Given the description of an element on the screen output the (x, y) to click on. 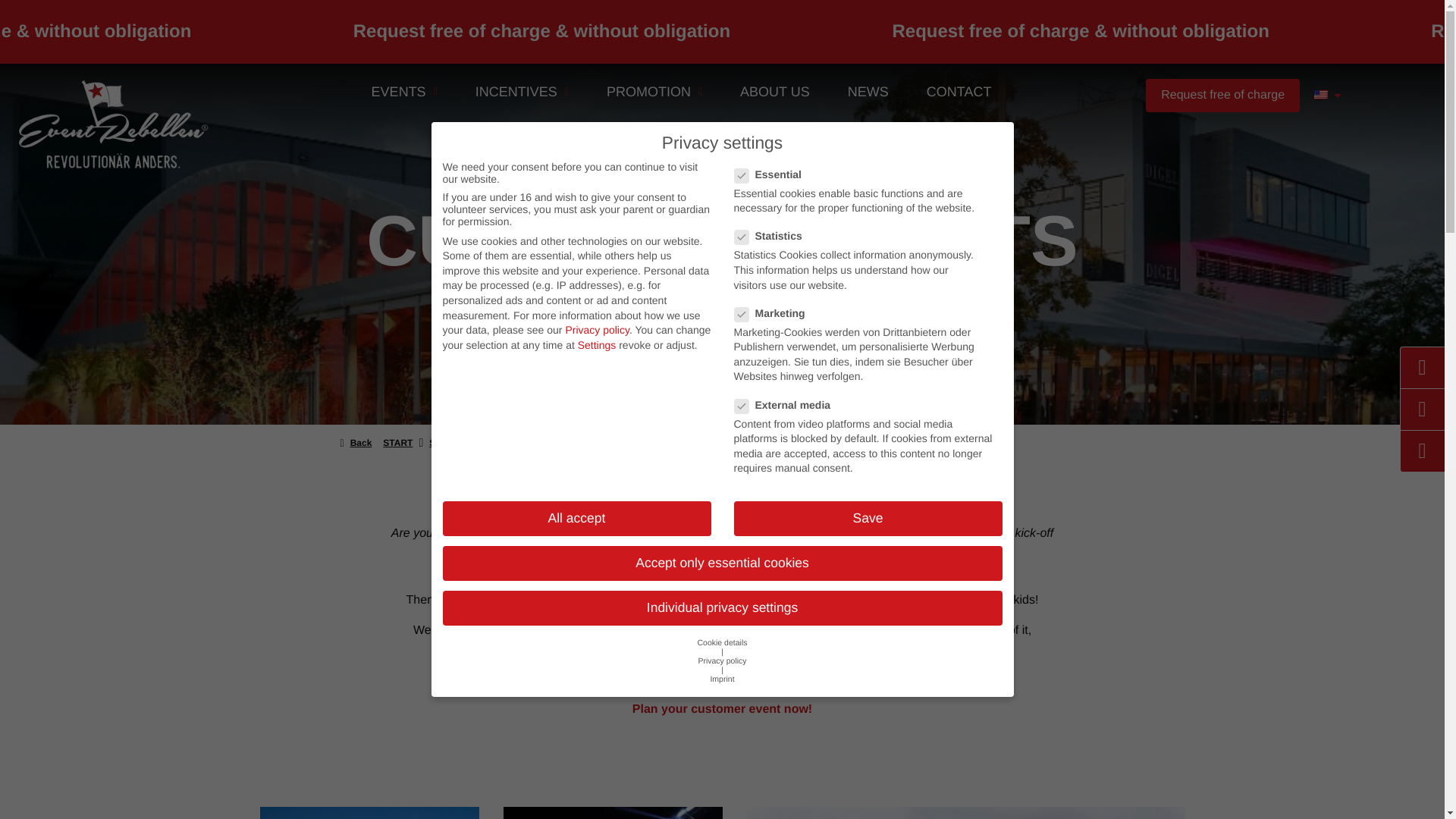
EVENTS (404, 91)
CONTACT (959, 91)
English (1320, 94)
Request free of charge (1222, 95)
INCENTIVES (521, 91)
English (1321, 94)
NEWS (868, 91)
PROMOTION (654, 91)
ABOUT US (775, 91)
